Given the description of an element on the screen output the (x, y) to click on. 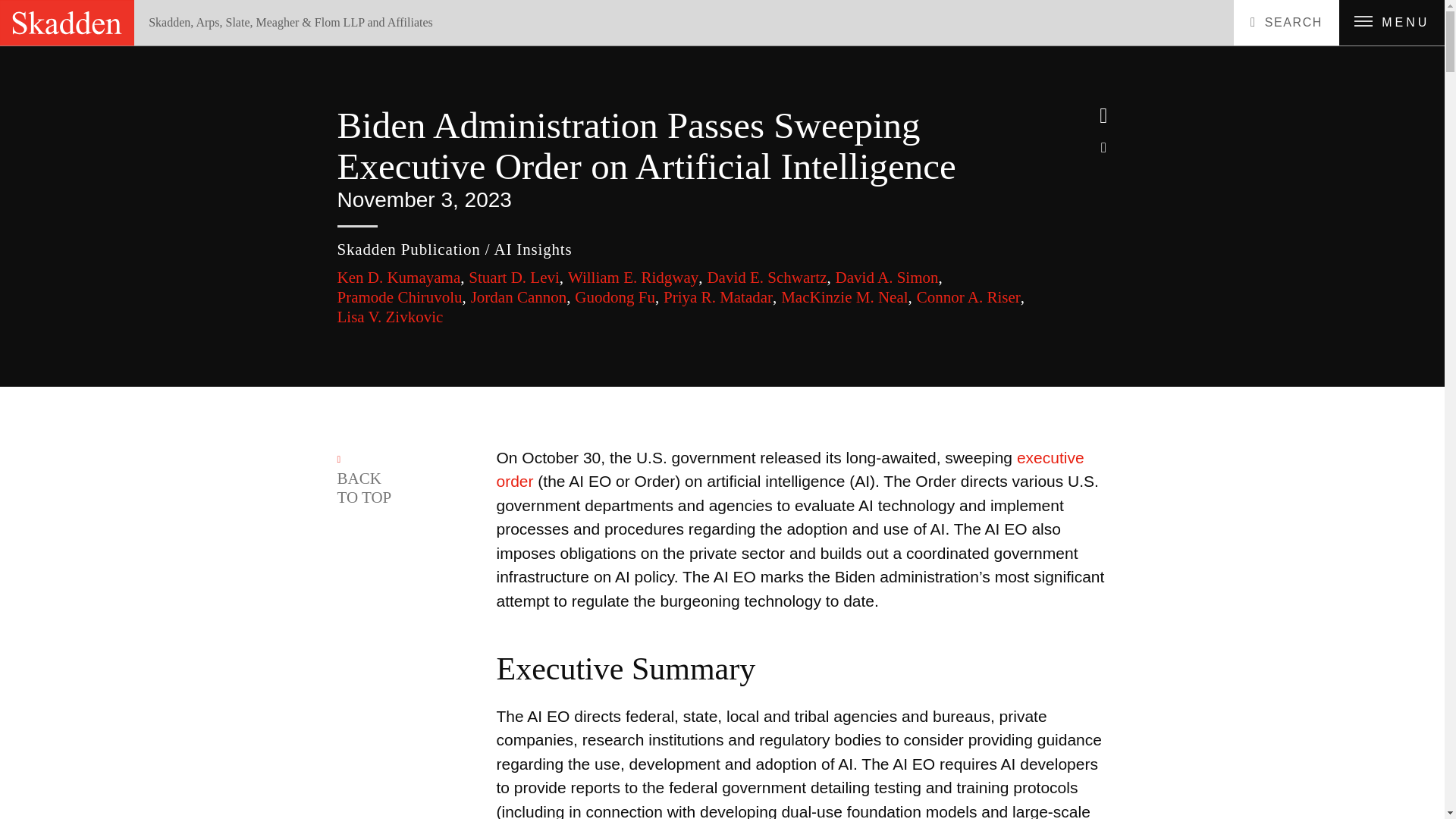
Stuart D. Levi (515, 277)
Home (173, 50)
MacKinzie M. Neal (846, 297)
navigate to Insights (215, 50)
David E. Schwartz (767, 277)
Insights (215, 50)
Lisa V. Zivkovic (389, 316)
Priya R. Matadar (719, 297)
SEARCH (1286, 22)
Jordan Cannon (520, 297)
Pramode Chiruvolu (400, 297)
executive order (789, 469)
Ken D. Kumayama (400, 277)
David A. Simon (888, 277)
Connor A. Riser (971, 297)
